Given the description of an element on the screen output the (x, y) to click on. 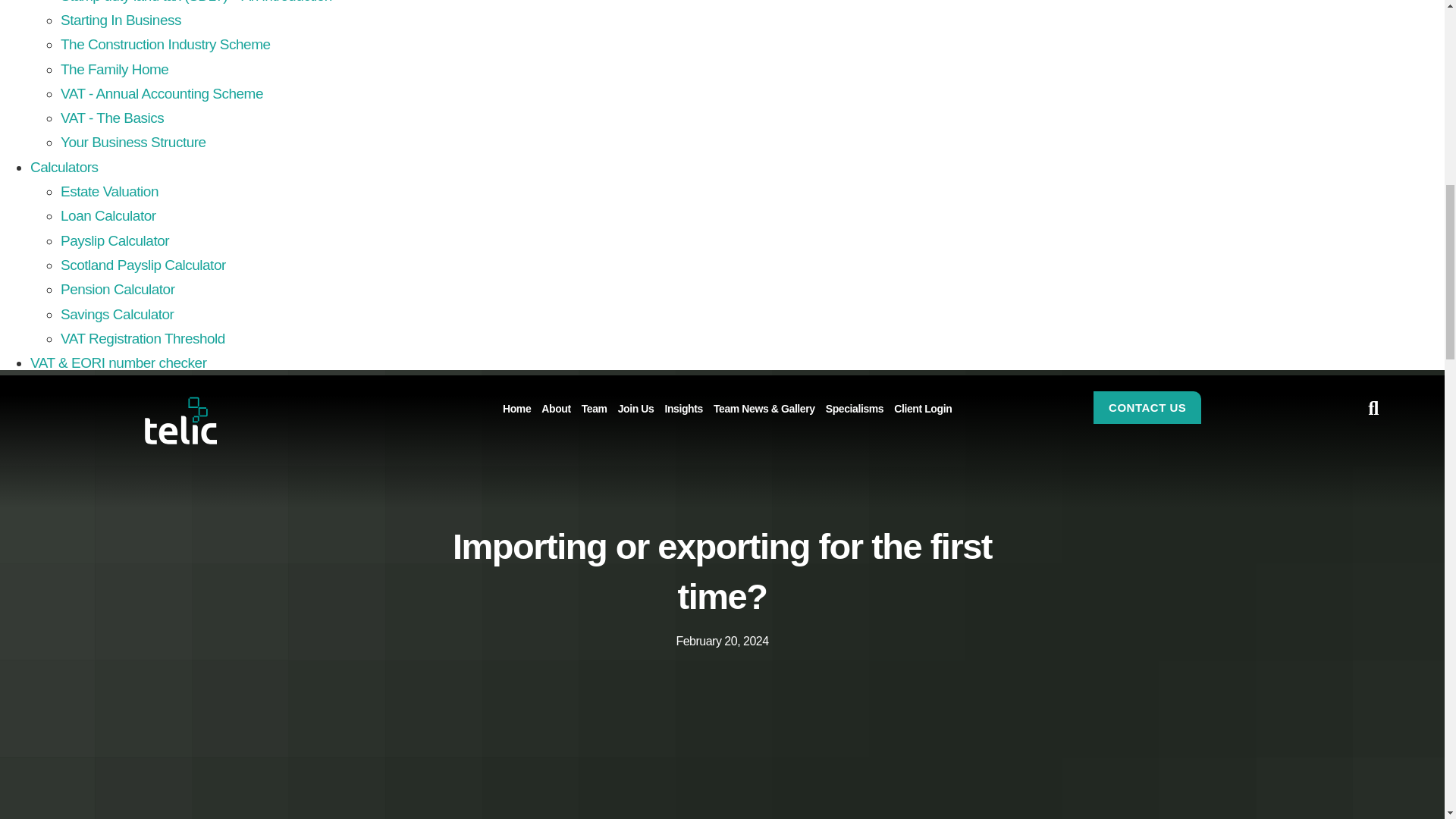
Your Business Structure (133, 141)
The Construction Industry Scheme (165, 44)
VAT - The Basics (112, 117)
Payslip Calculator (114, 240)
Loan Calculator (108, 215)
Estate Valuation (109, 191)
Calculators (64, 166)
The Family Home (114, 68)
VAT - Annual Accounting Scheme (162, 93)
Starting In Business (120, 19)
